Given the description of an element on the screen output the (x, y) to click on. 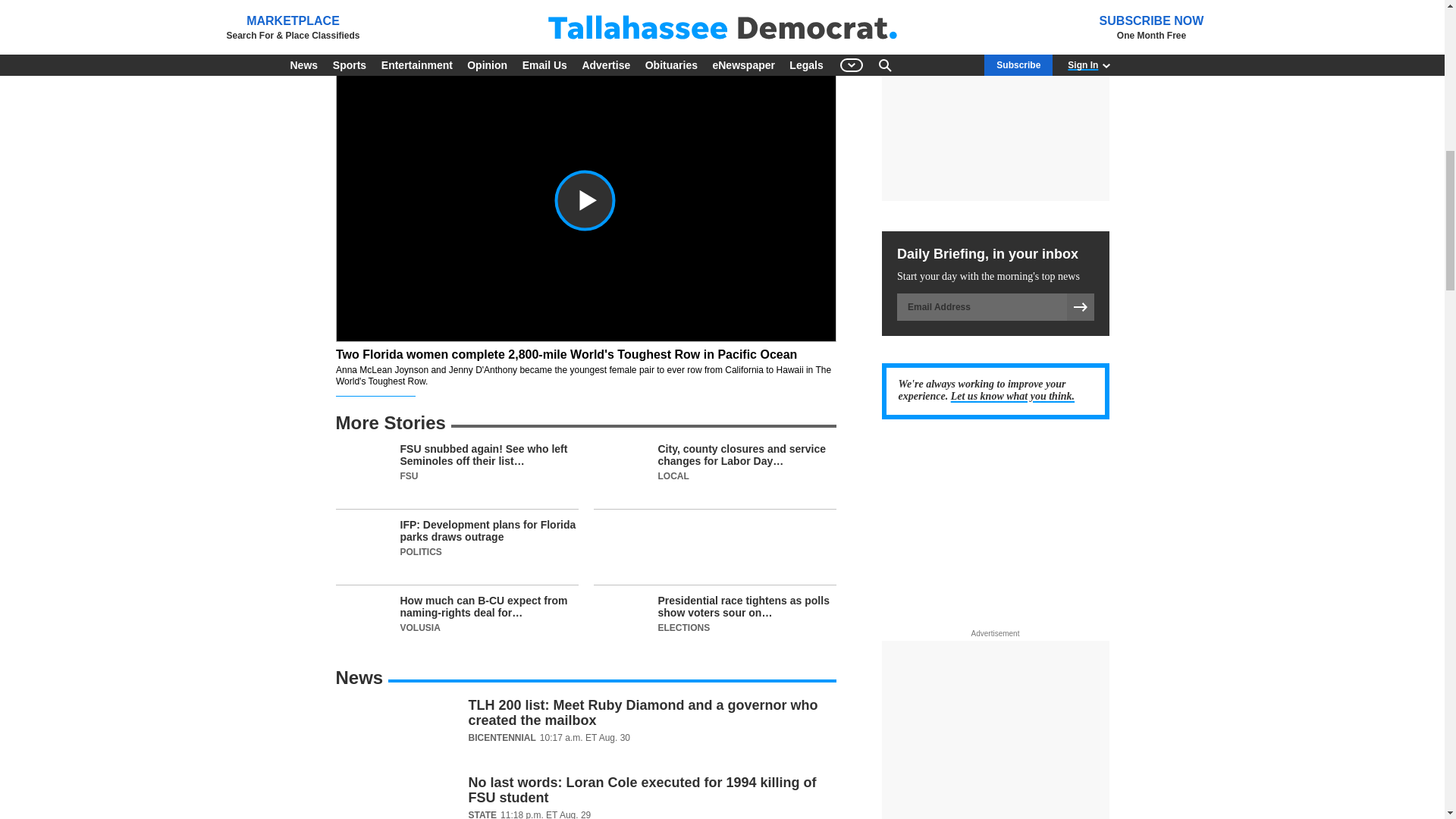
IFP: Development plans for Florida parks draws outrage (456, 551)
